Given the description of an element on the screen output the (x, y) to click on. 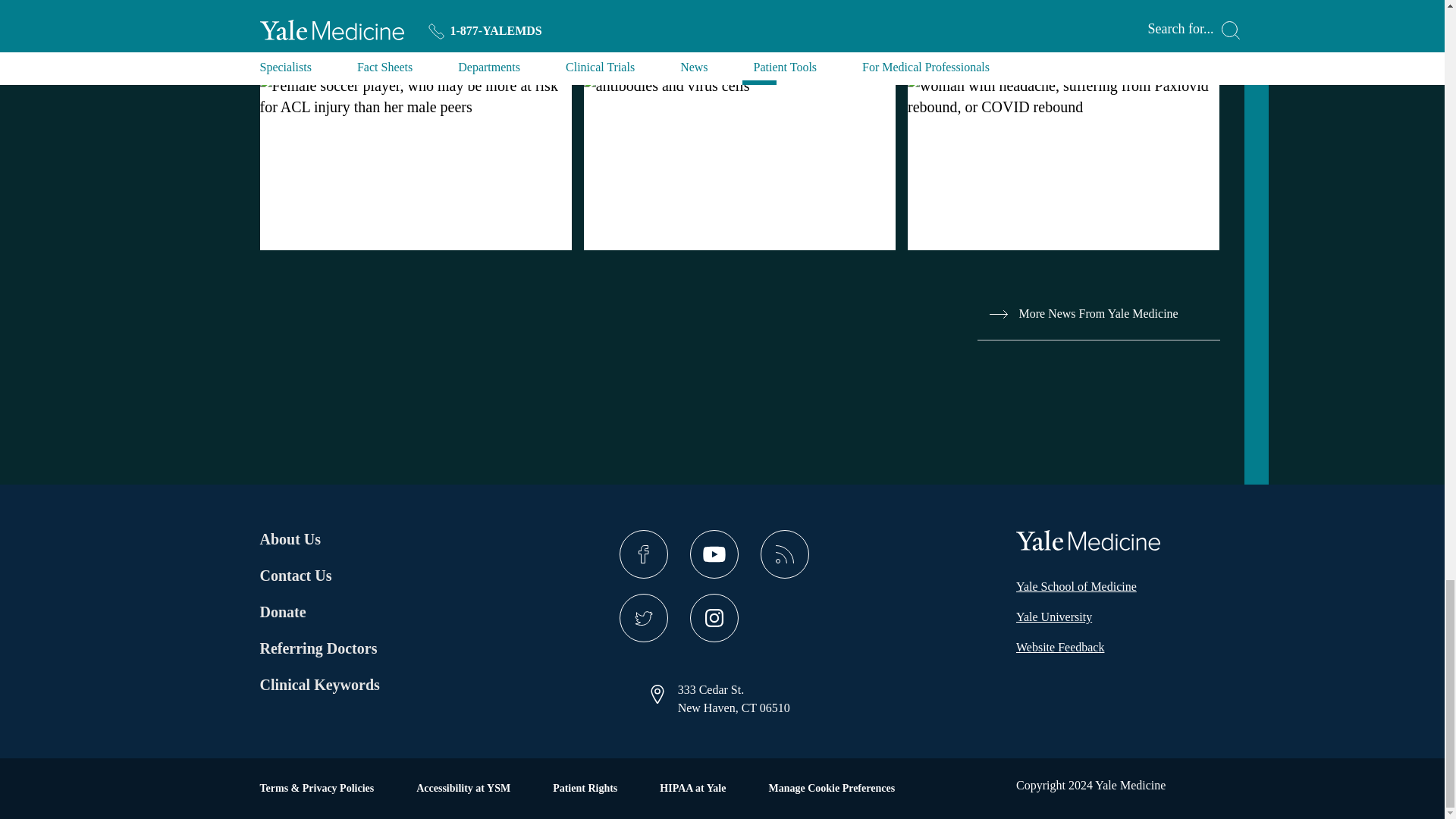
What Is Paxlovid Rebound? 9 Things to Know (1063, 125)
woman with headache, suffering from Paxlovid rebound (1063, 96)
anitbodies from long covid (739, 85)
More News From Yale Medicine (1098, 314)
Teenage soccer player about to kick the ball (414, 96)
